Given the description of an element on the screen output the (x, y) to click on. 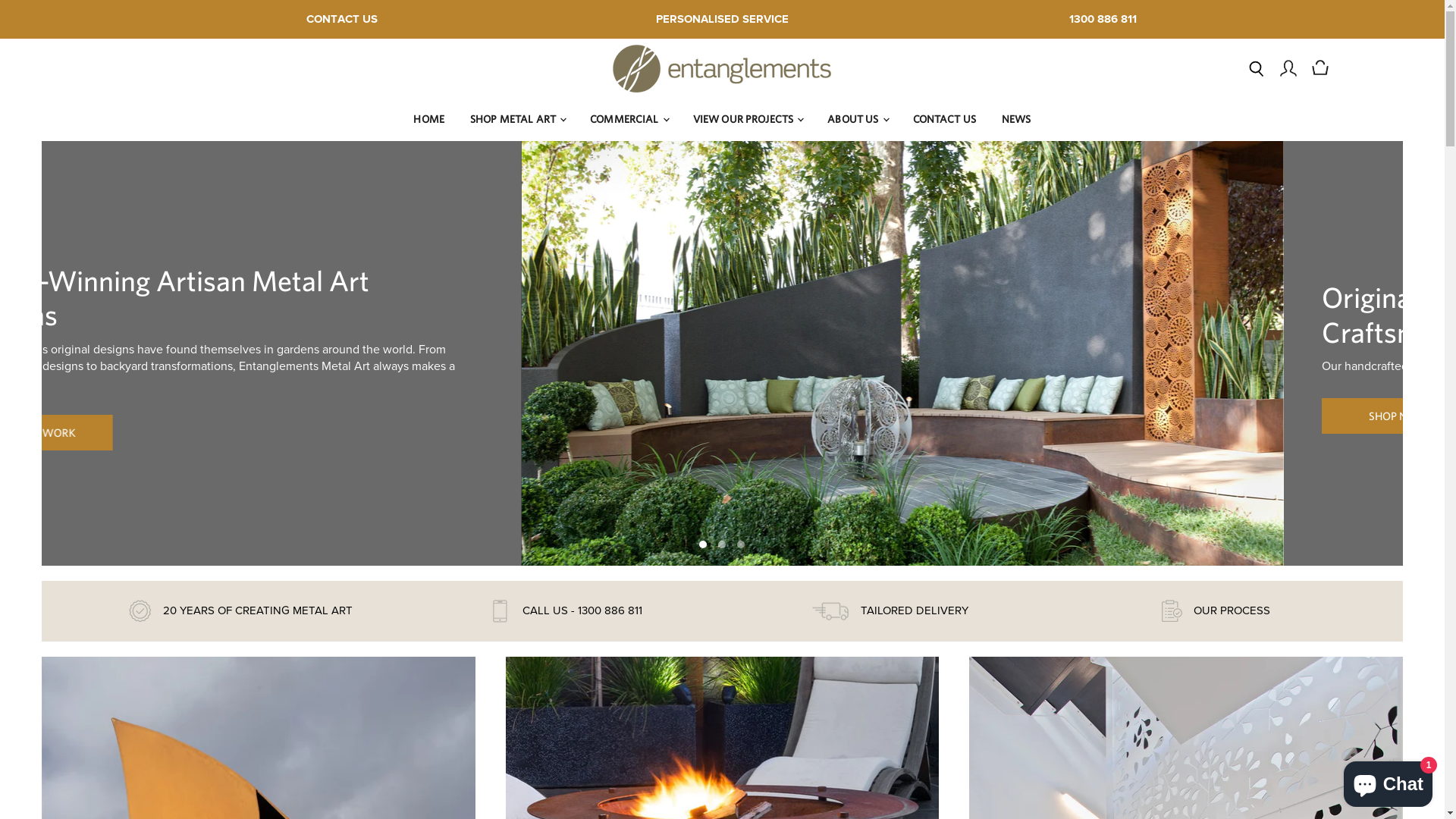
SHOP METAL ART Element type: text (516, 118)
CONTACT US Element type: text (341, 19)
Search Element type: text (1256, 67)
SEE OUR WORK Element type: text (917, 432)
TAILORED DELIVERY Element type: text (884, 610)
View account Element type: text (1288, 67)
Shopify online store chat Element type: hover (1388, 780)
NEWS Element type: text (1016, 118)
20 YEARS OF CREATING METAL ART Element type: text (234, 610)
HOME Element type: text (428, 118)
PERSONALISED SERVICE Element type: text (721, 19)
COMMERCIAL Element type: text (628, 118)
VIEW OUR PROJECTS Element type: text (747, 118)
1300 886 811 Element type: text (1102, 19)
OUR PROCESS Element type: text (1209, 610)
CONTACT US Element type: text (943, 118)
CALL US - 1300 886 811 Element type: text (559, 610)
ABOUT US Element type: text (856, 118)
